Given the description of an element on the screen output the (x, y) to click on. 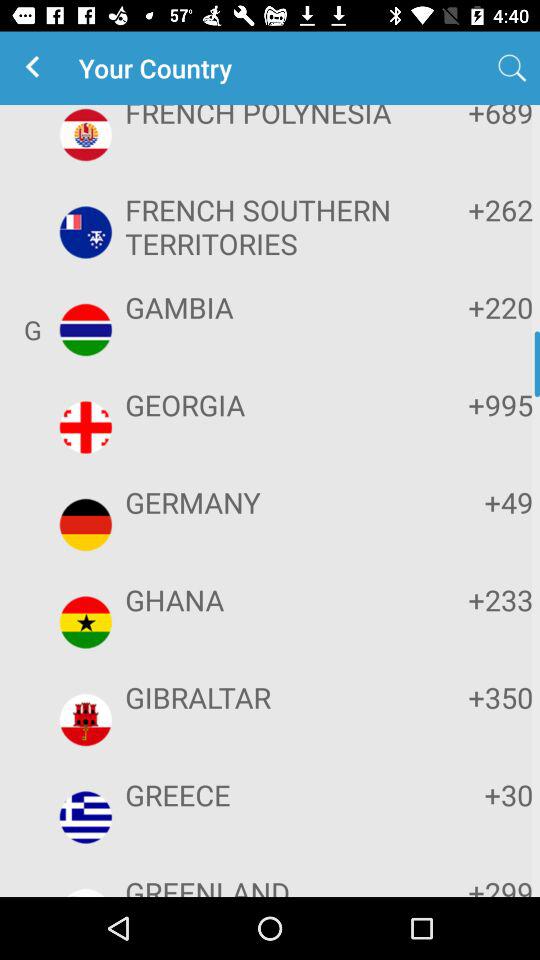
press the item to the right of the gambia app (471, 307)
